Given the description of an element on the screen output the (x, y) to click on. 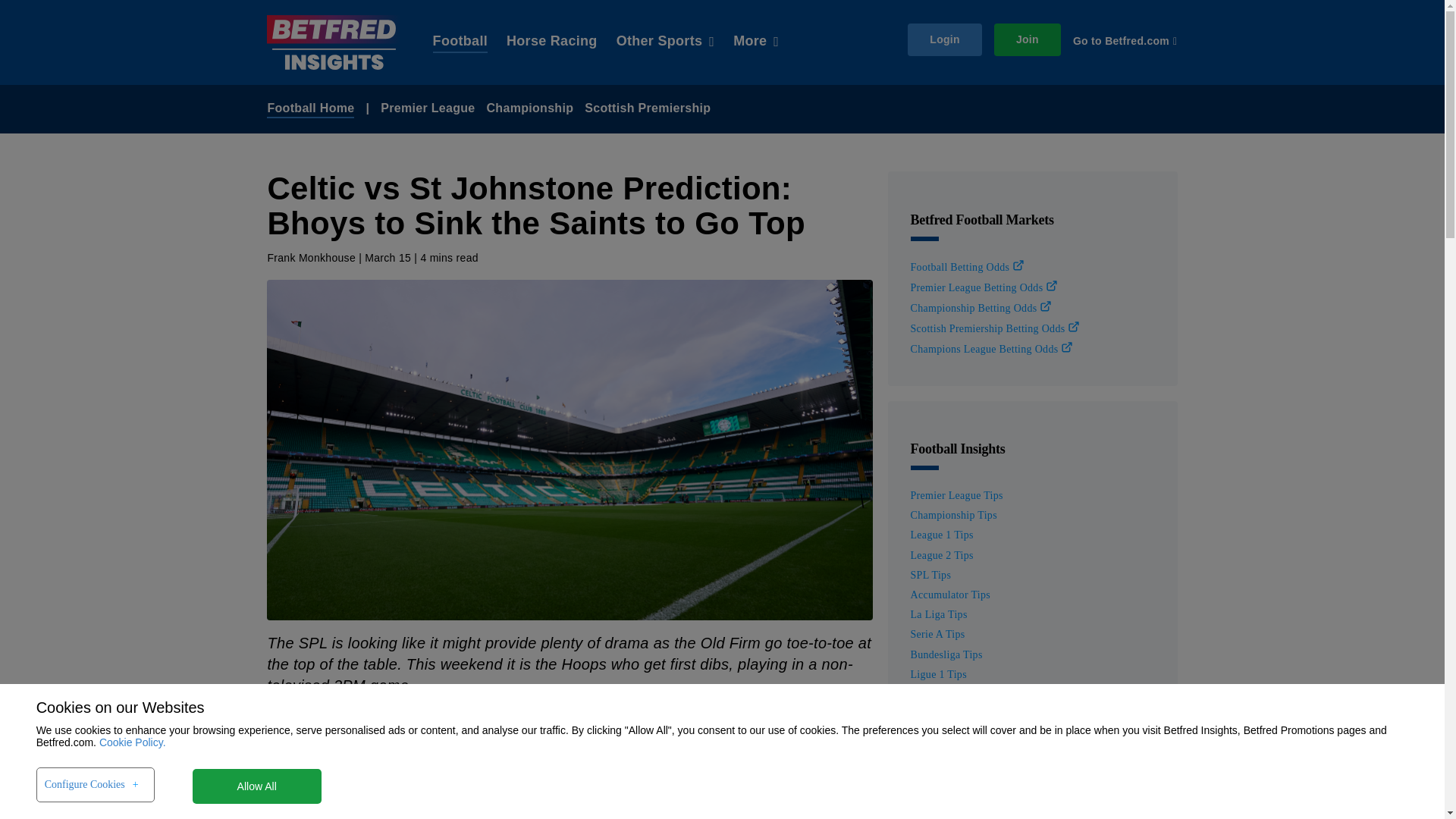
Go to Betfred.com (1125, 40)
Other Sports (664, 41)
Football (459, 41)
Horse Racing (551, 41)
Login (944, 39)
Other Sports (664, 41)
Football Home (309, 108)
Join (1027, 39)
More (755, 41)
